Given the description of an element on the screen output the (x, y) to click on. 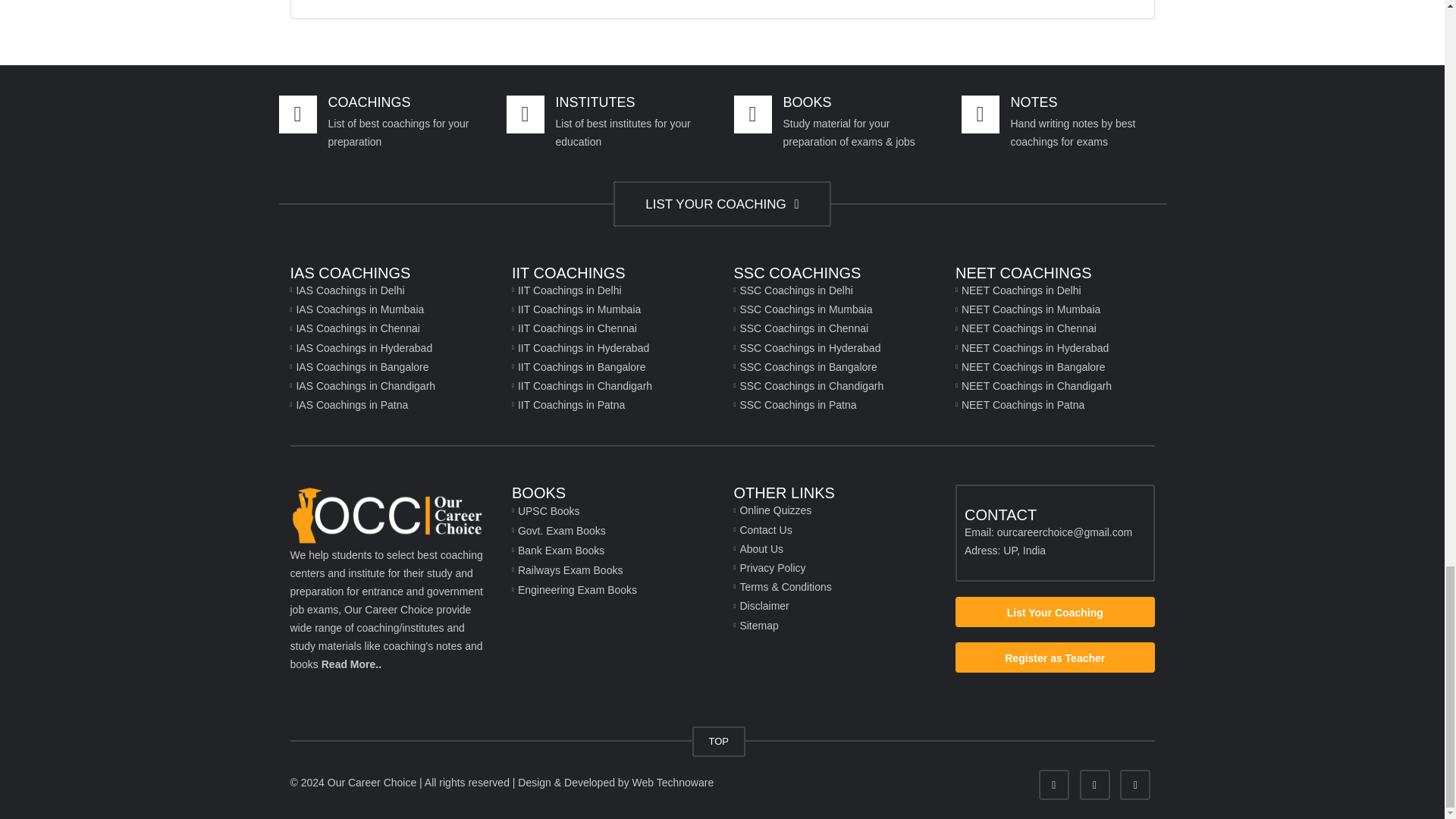
IAS Coachings in Delhi (389, 290)
IAS Coachings in Chennai (389, 328)
LIST YOUR COACHING (720, 204)
IAS Coachings in Mumbaia (389, 309)
LIST YOUR COACHING (720, 203)
